Given the description of an element on the screen output the (x, y) to click on. 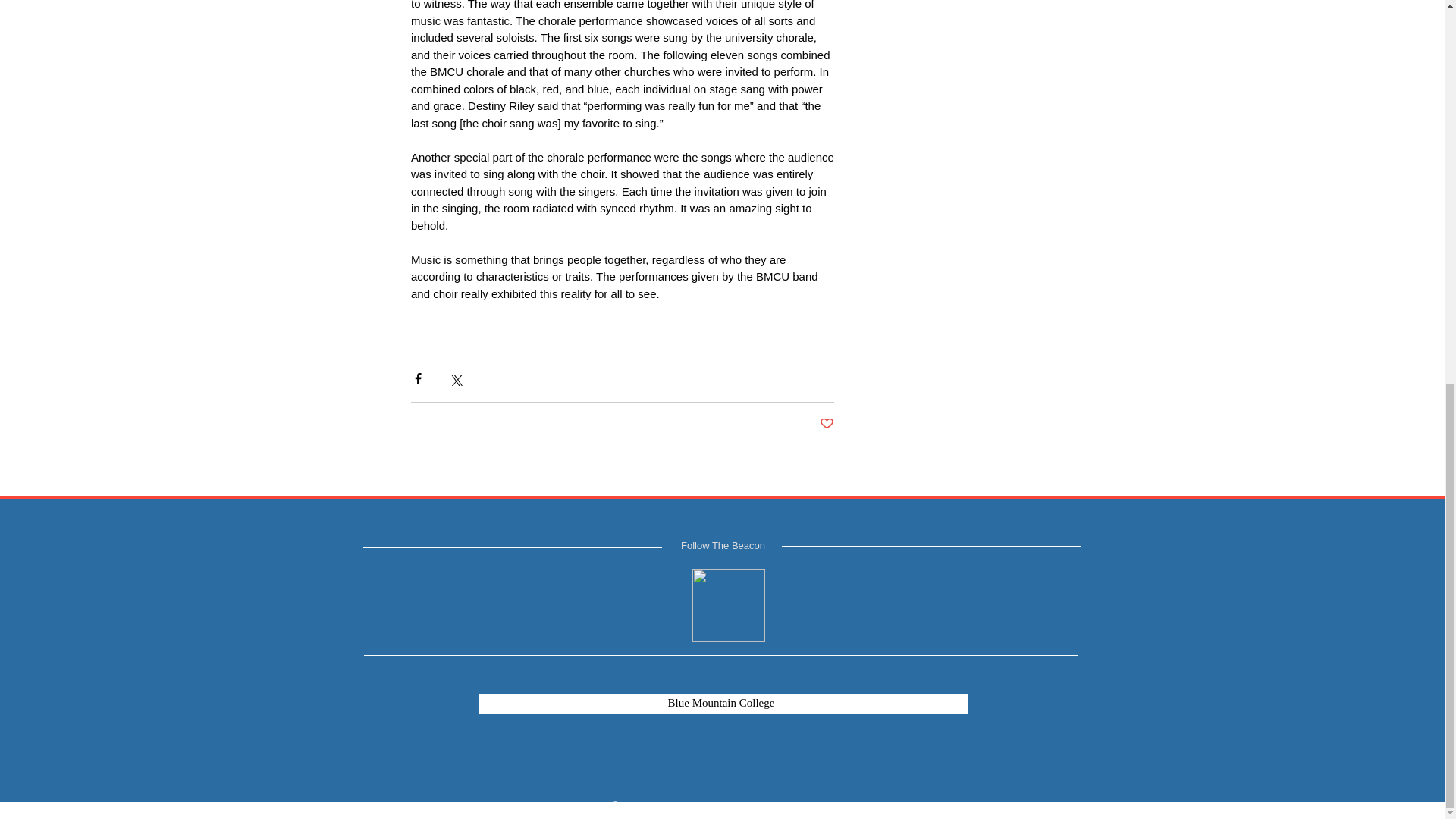
Blue Mountain College (721, 702)
bmcbeaconlogocircle.jpg (727, 604)
Wix.com (816, 805)
Post not marked as liked (825, 424)
